Given the description of an element on the screen output the (x, y) to click on. 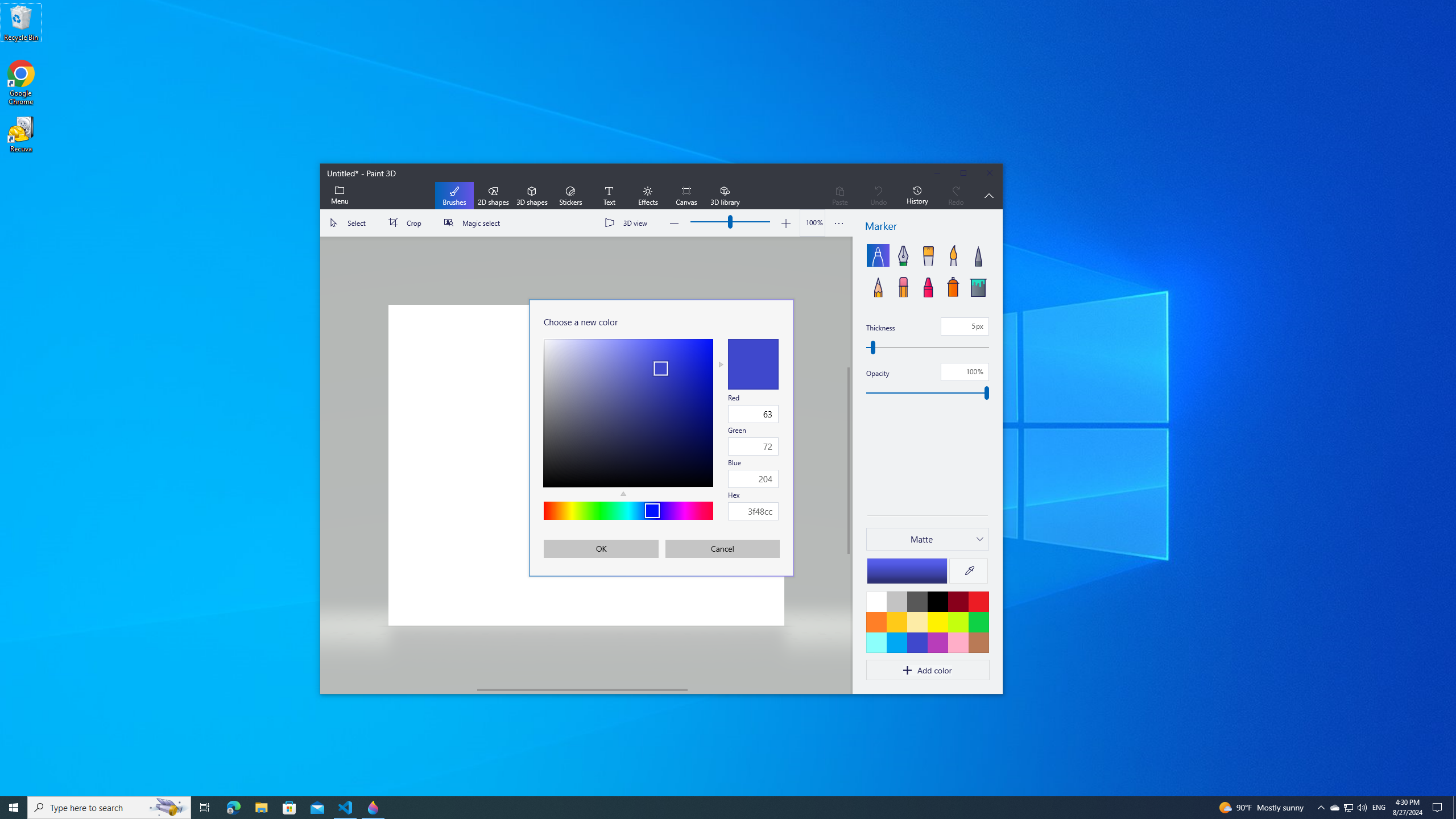
Task View (204, 807)
Google Chrome (21, 82)
File Explorer (261, 807)
Recuva (21, 133)
Paint 3D - 1 running window (373, 807)
User Promoted Notification Area (1333, 807)
